Given the description of an element on the screen output the (x, y) to click on. 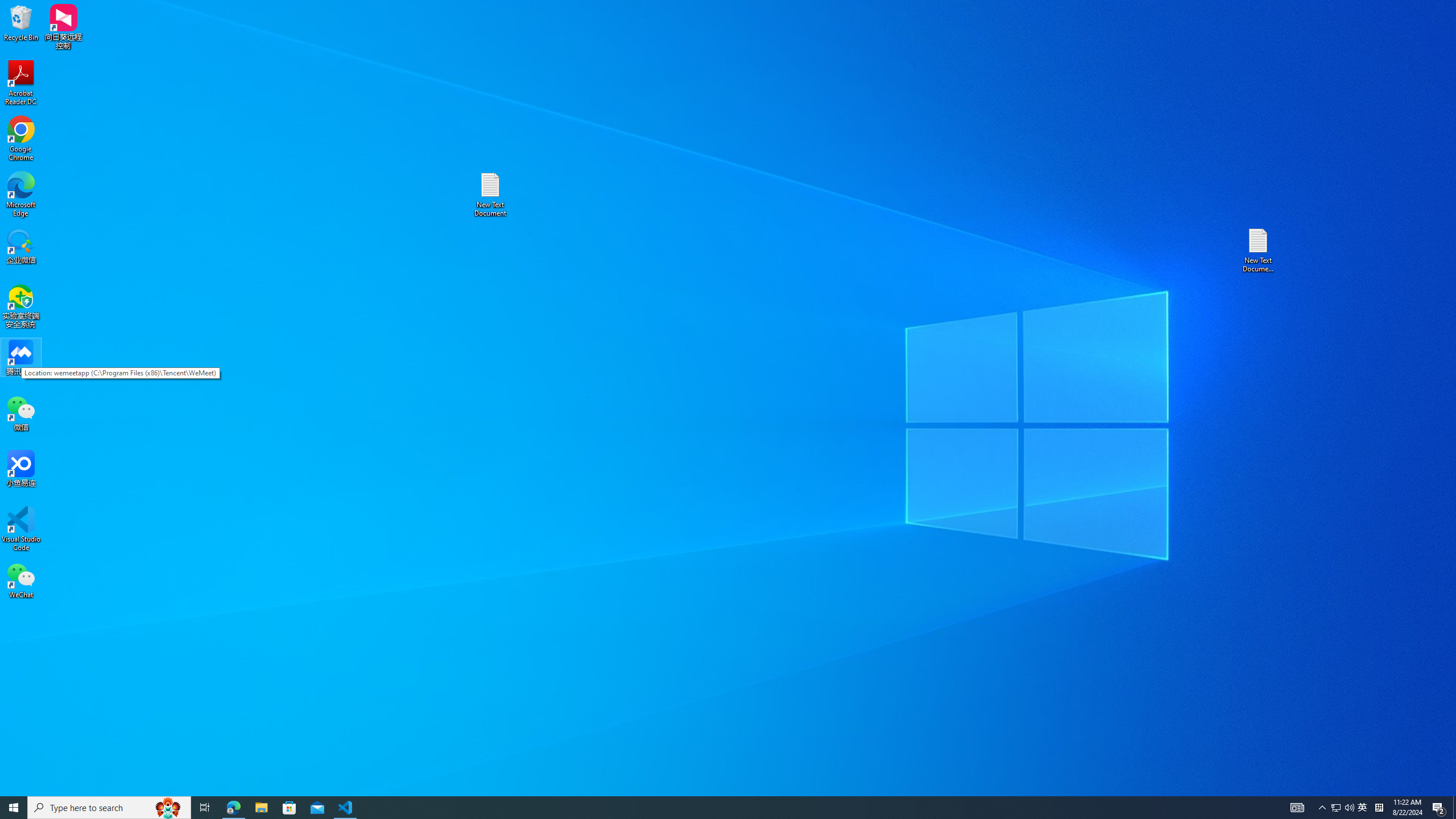
File Explorer (261, 807)
New Text Document (2) (1258, 250)
Show desktop (1454, 807)
Type here to search (108, 807)
Acrobat Reader DC (21, 82)
WeChat (21, 580)
Microsoft Edge (21, 194)
Microsoft Store (289, 807)
User Promoted Notification Area (1342, 807)
Microsoft Edge - 1 running window (233, 807)
